Given the description of an element on the screen output the (x, y) to click on. 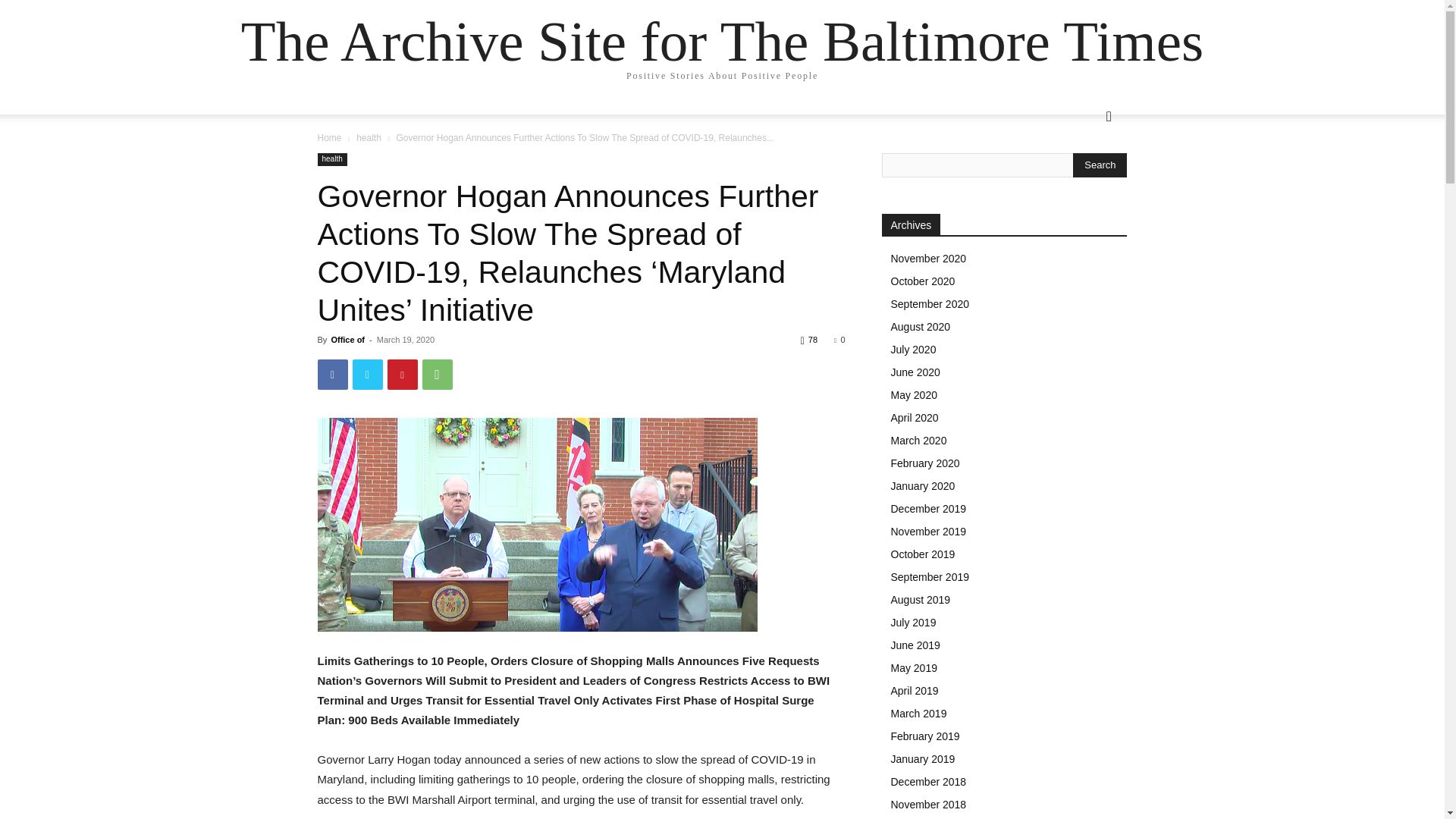
Search (1099, 165)
Search (1099, 165)
0 (839, 338)
health (331, 159)
Home (328, 137)
September 2020 (929, 304)
Search (1085, 177)
health (368, 137)
October 2020 (922, 281)
Office of (347, 338)
July 2020 (912, 349)
View all posts in health (368, 137)
Pinterest (401, 374)
May 2020 (912, 395)
The Archive Site for The Baltimore Times (722, 41)
